Given the description of an element on the screen output the (x, y) to click on. 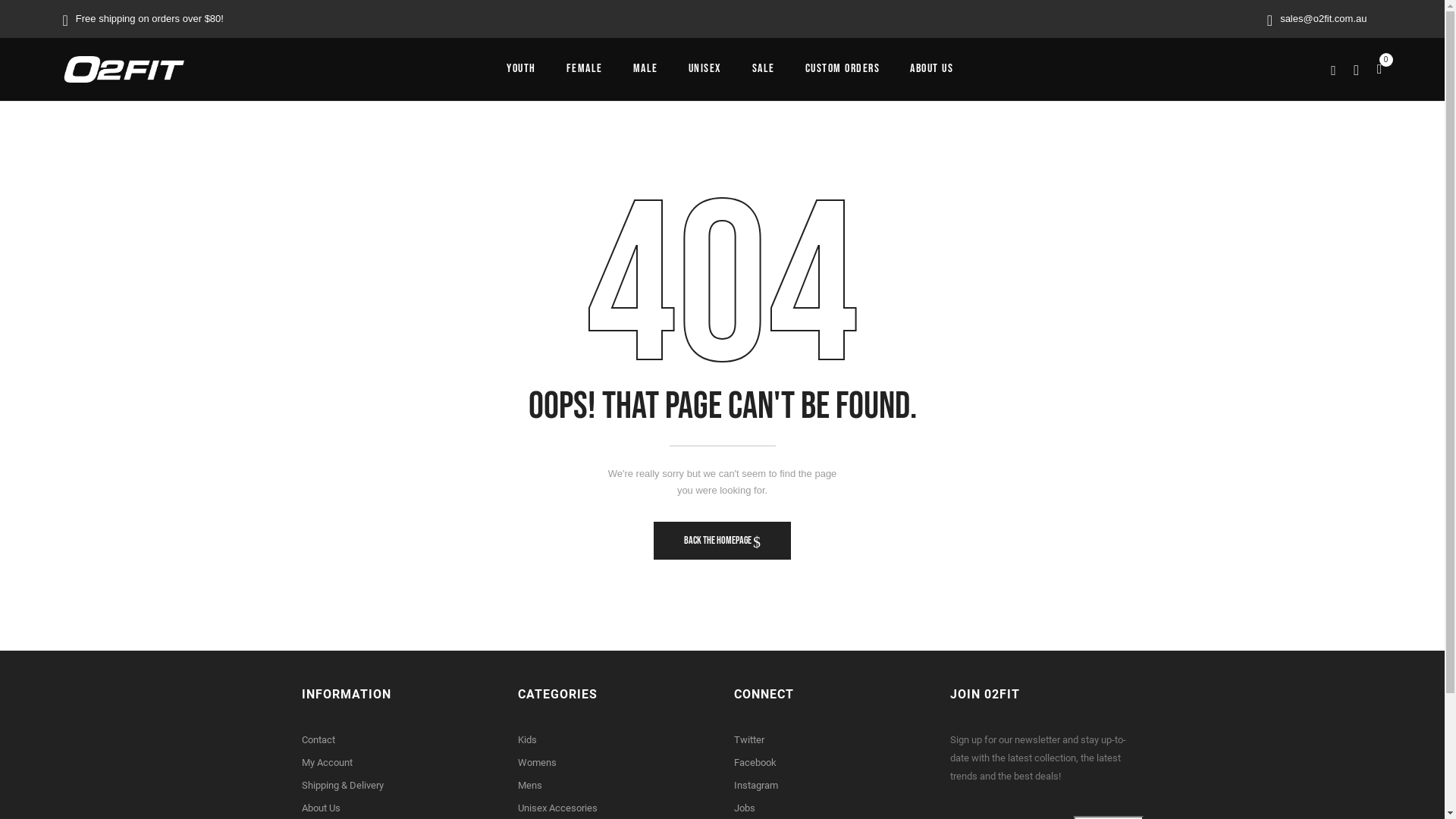
Custom Orders Element type: text (842, 68)
Jobs Element type: text (744, 807)
Female Element type: text (583, 68)
Instagram Element type: text (756, 784)
Twitter Element type: text (749, 739)
Shipping & Delivery Element type: text (342, 784)
Male Element type: text (644, 68)
Back The Homepage Element type: text (721, 540)
Sale Element type: text (763, 68)
About Us Element type: text (320, 807)
Contact Element type: text (318, 739)
Unisex Element type: text (704, 68)
Youth Element type: text (521, 68)
0 Element type: text (1379, 68)
sales@o2fit.com.au Element type: text (1323, 18)
Womens Element type: text (536, 762)
Unisex Accesories Element type: text (556, 807)
Facebook Element type: text (755, 762)
My Account Element type: text (326, 762)
Mens Element type: text (529, 784)
Kids Element type: text (526, 739)
About Us Element type: text (931, 68)
